Given the description of an element on the screen output the (x, y) to click on. 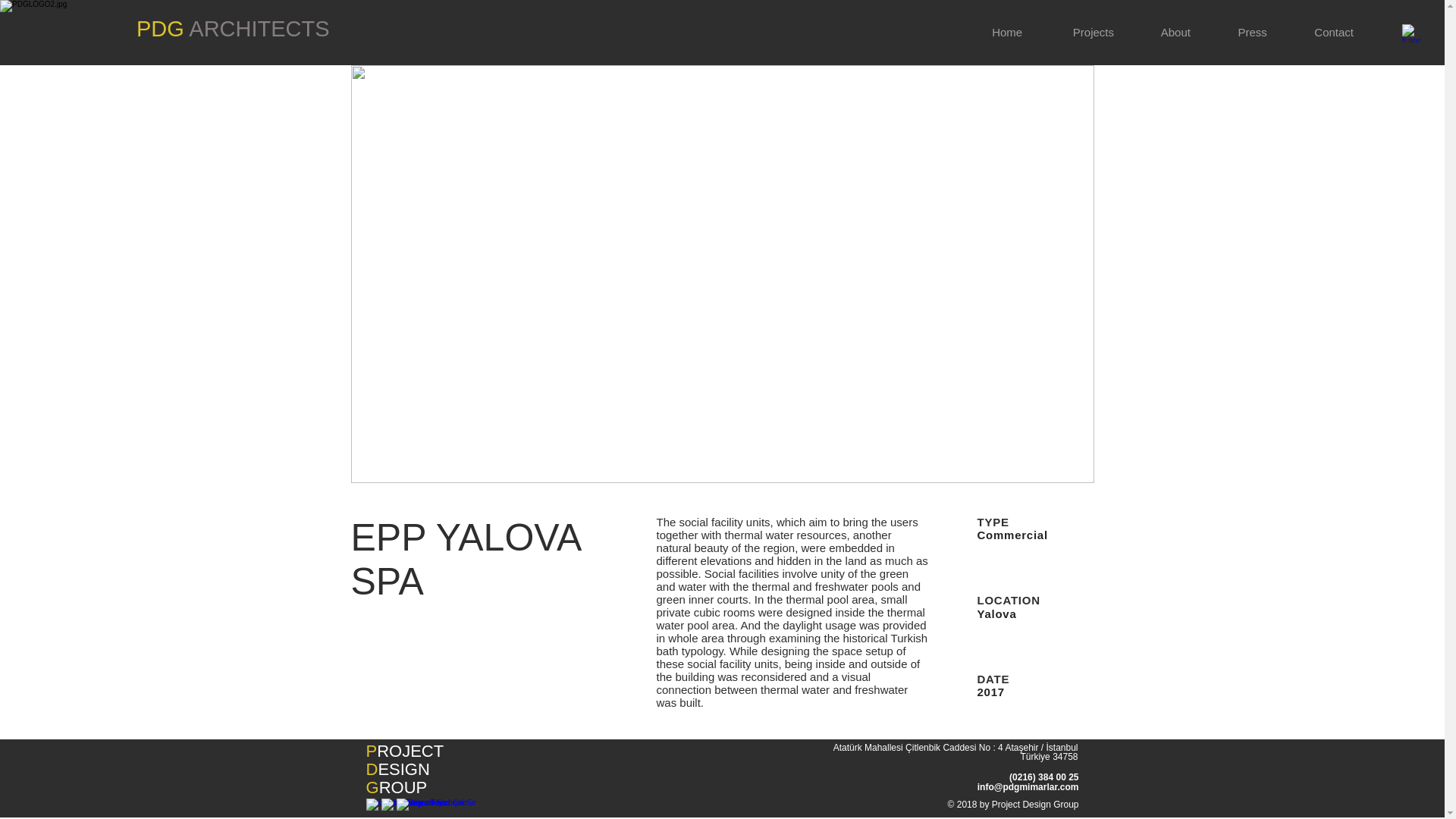
Contact (1334, 31)
Projects (1093, 31)
notif.png (8, 9)
About (1175, 31)
Home (1006, 31)
Press (1251, 31)
